Given the description of an element on the screen output the (x, y) to click on. 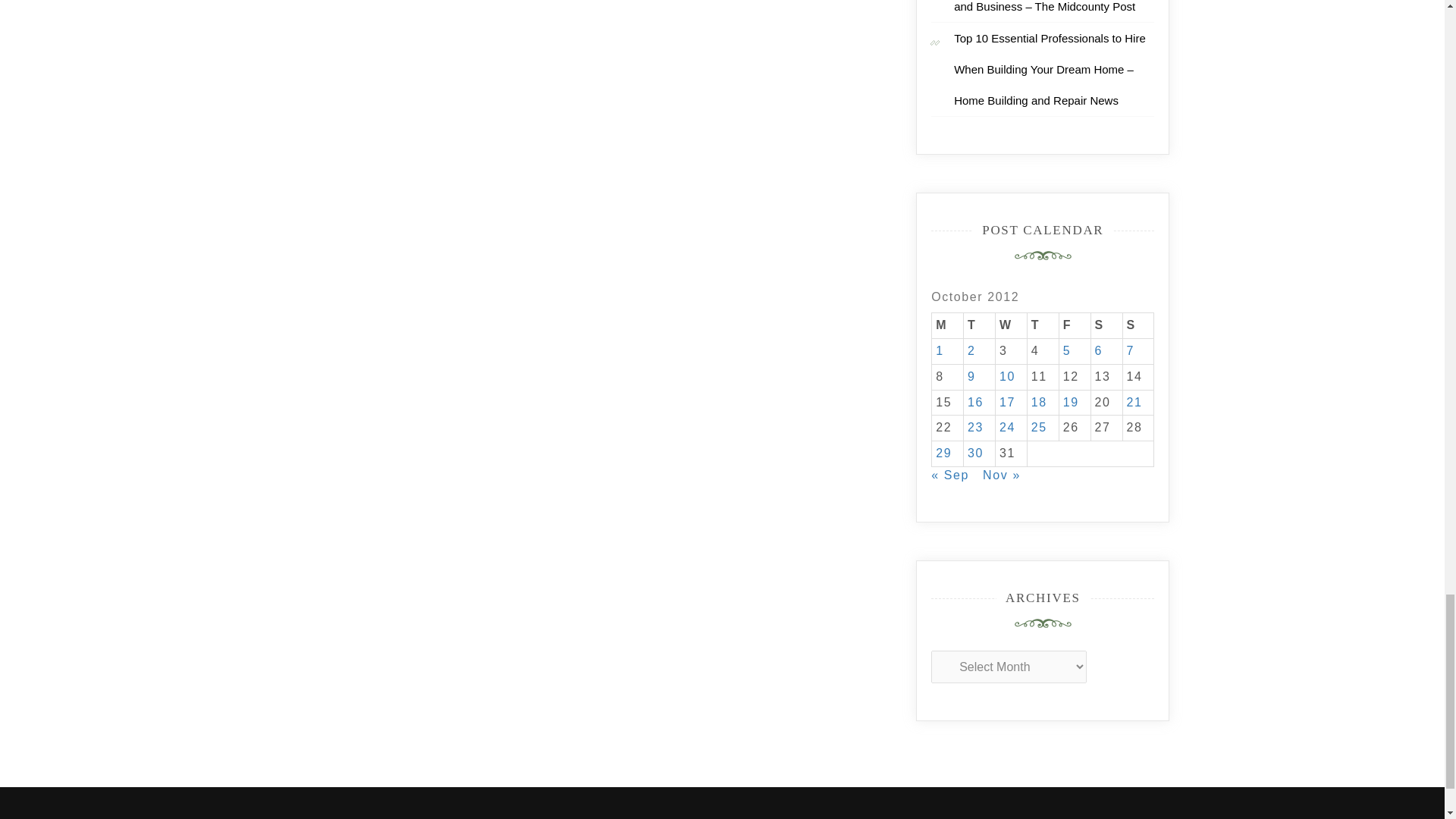
Monday (947, 325)
